Given the description of an element on the screen output the (x, y) to click on. 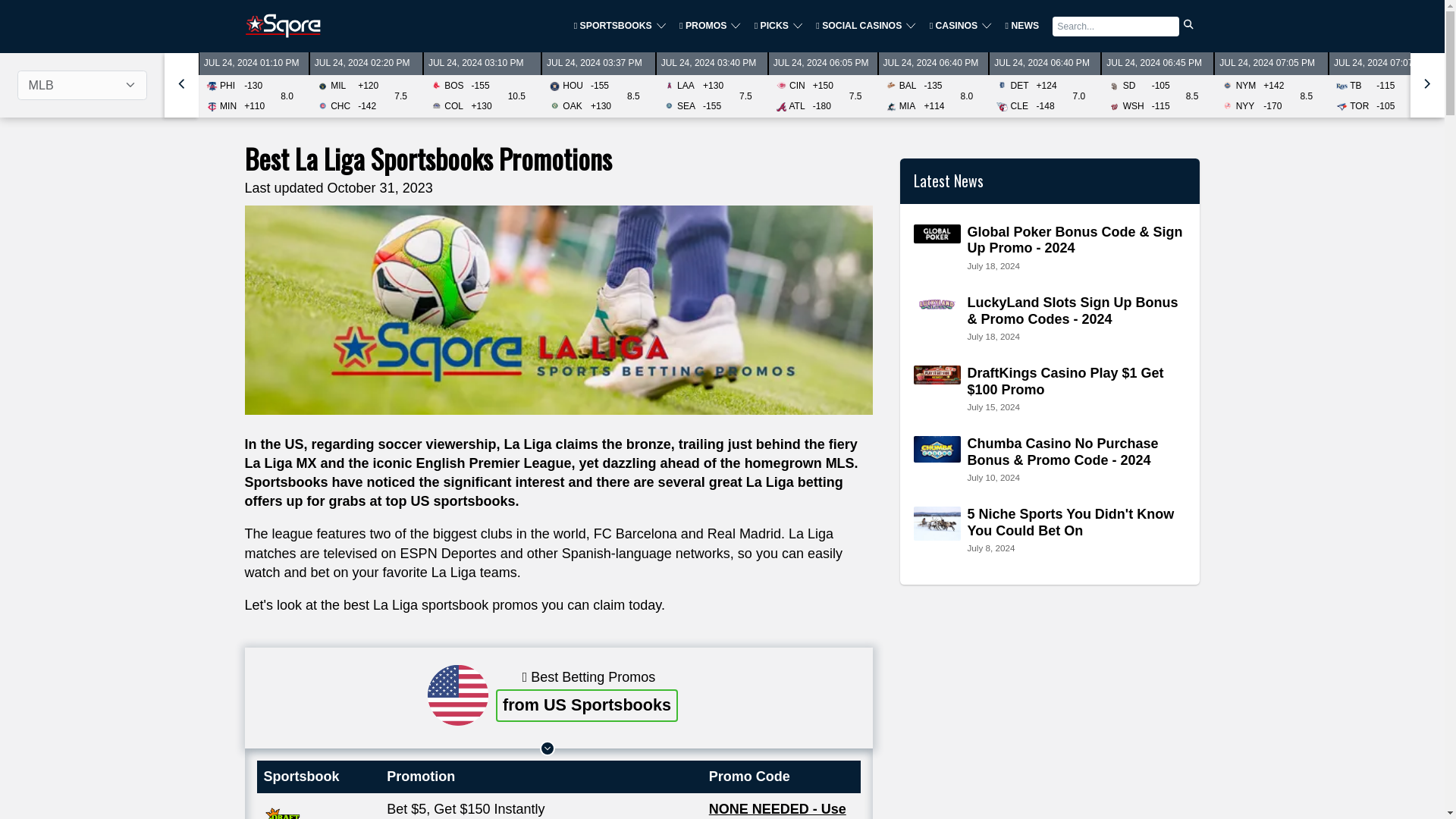
Go to main page (282, 25)
